Given the description of an element on the screen output the (x, y) to click on. 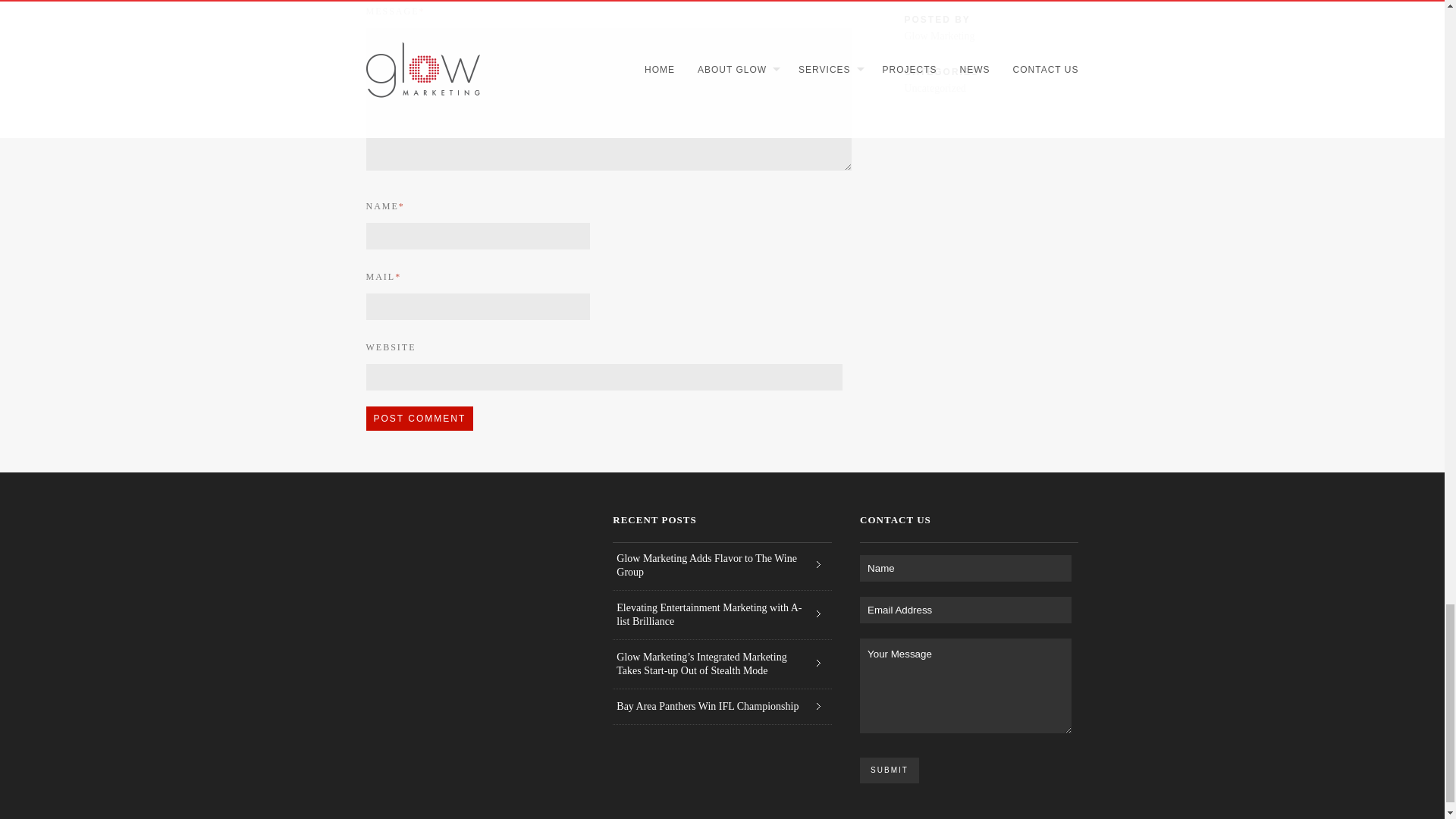
Posts by Glow Marketing (939, 35)
Email Address (965, 610)
Submit (889, 769)
Post Comment (419, 418)
Name (965, 568)
